Given the description of an element on the screen output the (x, y) to click on. 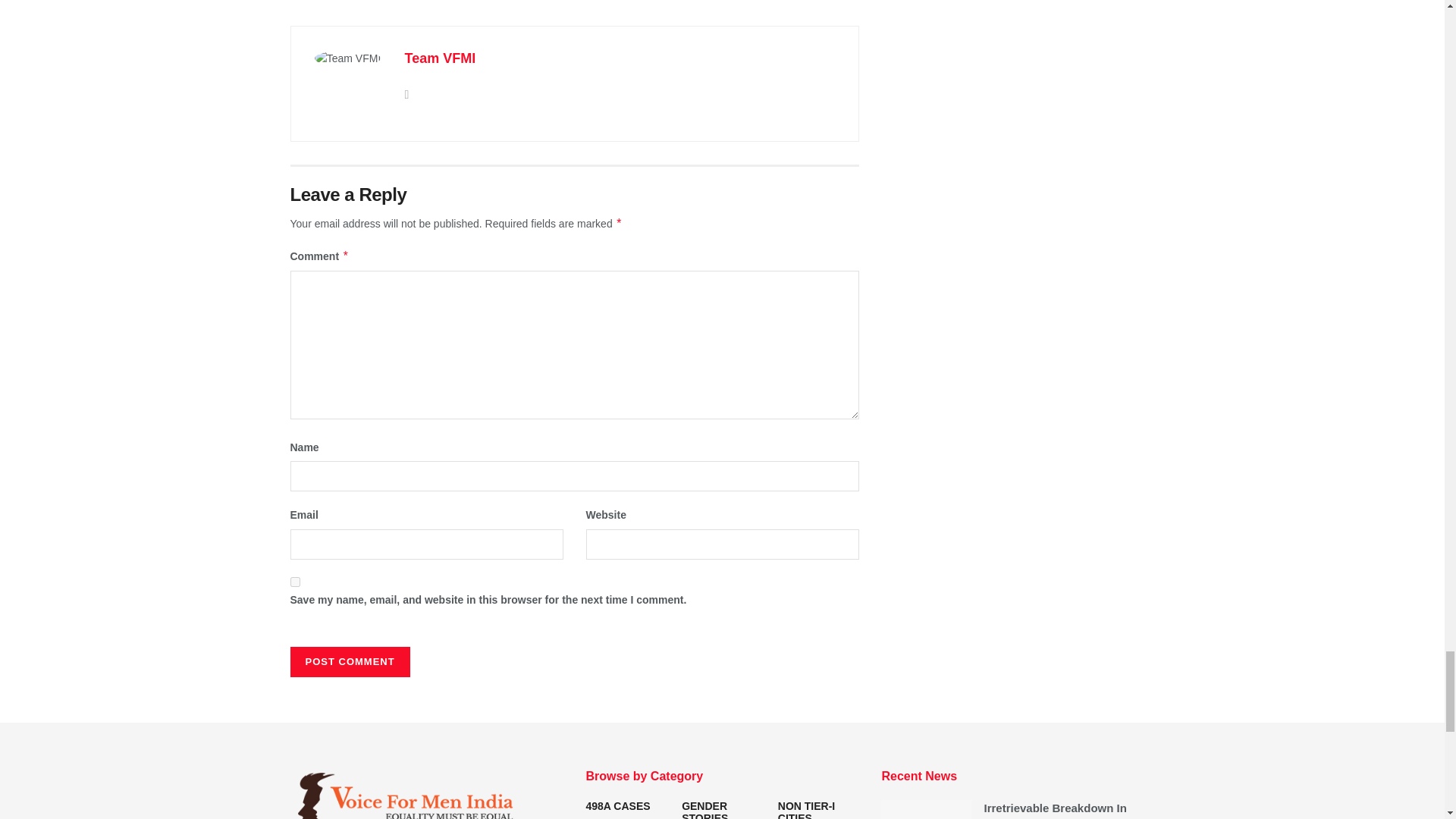
yes (294, 582)
Post Comment (349, 662)
